Given the description of an element on the screen output the (x, y) to click on. 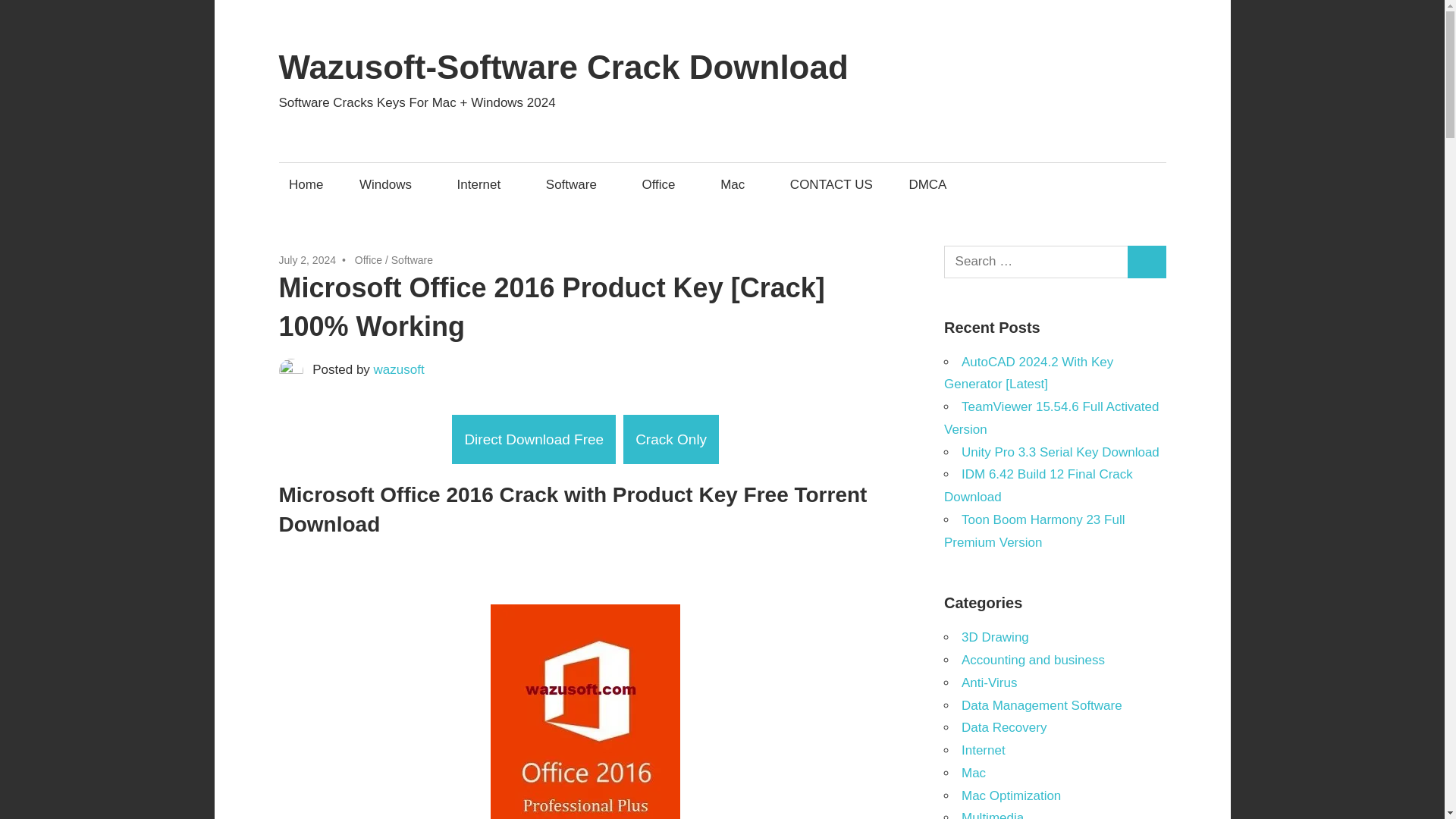
wazusoft (399, 369)
DMCA (927, 184)
Office (662, 184)
Internet (482, 184)
View all posts by wazusoft (399, 369)
Windows (389, 184)
2:36 am (307, 259)
Software (575, 184)
Direct Download FreeCrack Only (585, 439)
Office (368, 259)
